Given the description of an element on the screen output the (x, y) to click on. 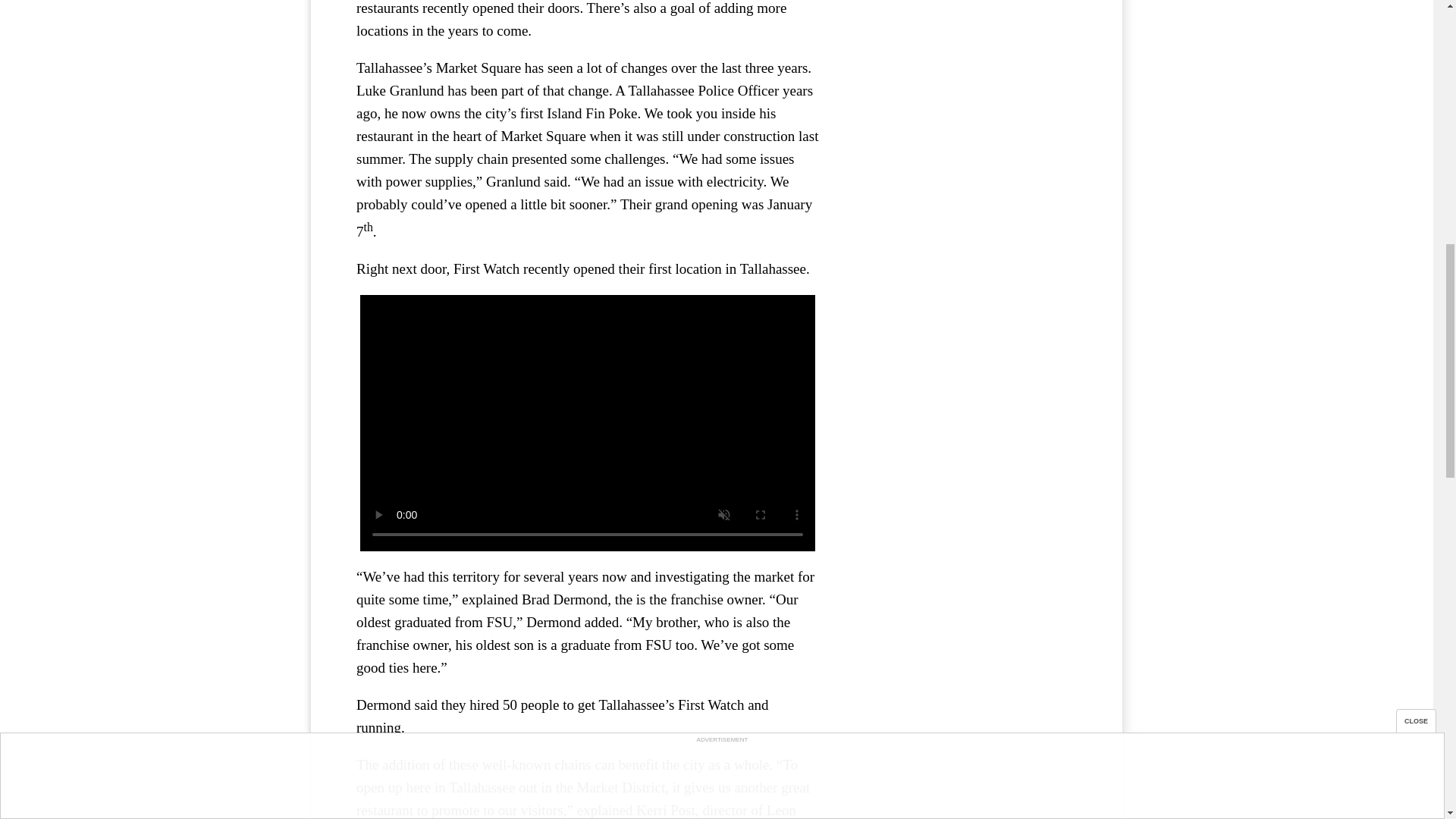
3rd party ad content (962, 48)
